Given the description of an element on the screen output the (x, y) to click on. 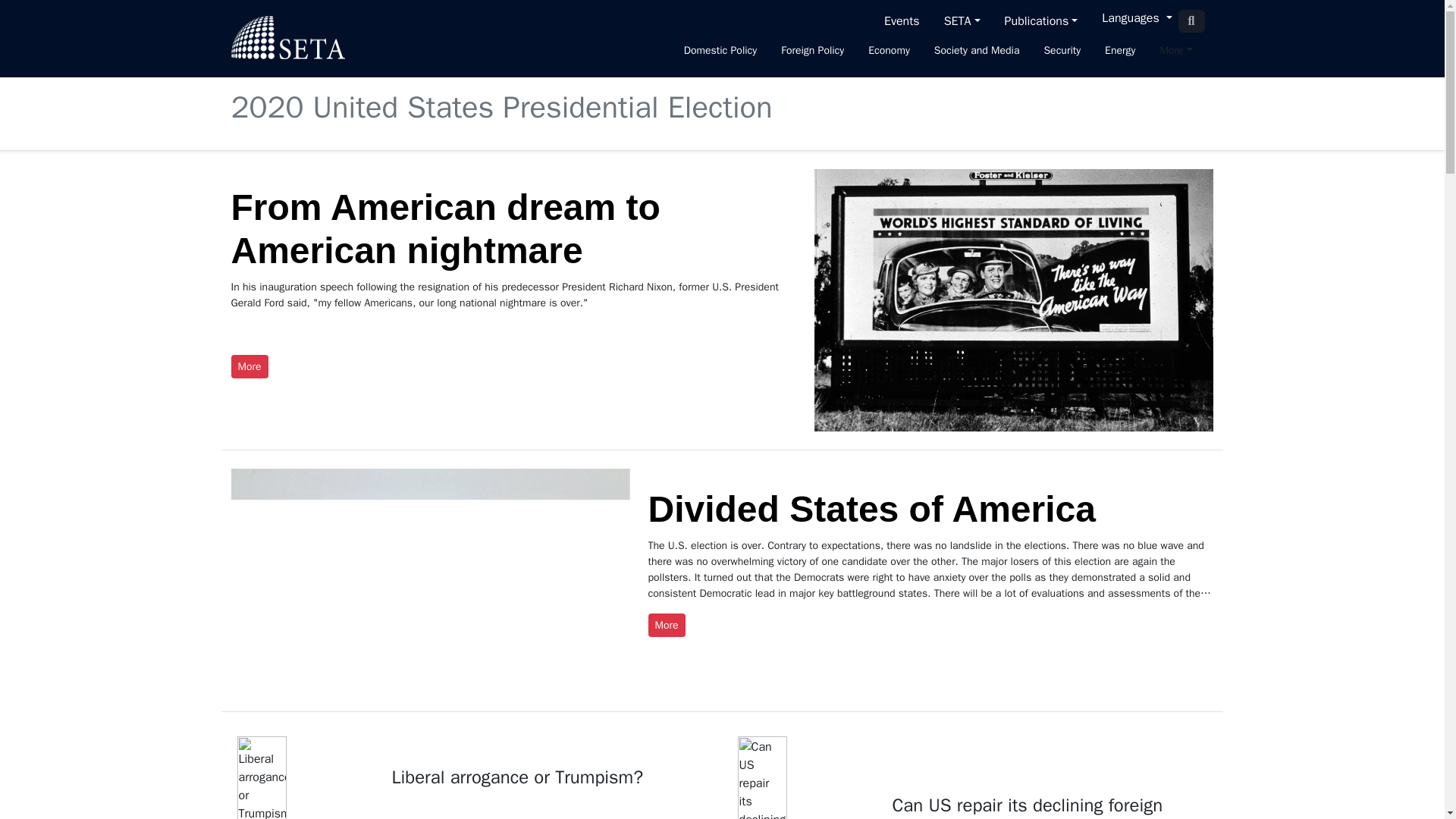
Society and Media (977, 52)
Foreign Policy (812, 52)
More (1175, 52)
Languages (1136, 21)
More (1175, 52)
Economy (888, 52)
Domestic Policy (720, 52)
Domestic Policy (720, 52)
Economy (888, 52)
Security (1061, 52)
